Given the description of an element on the screen output the (x, y) to click on. 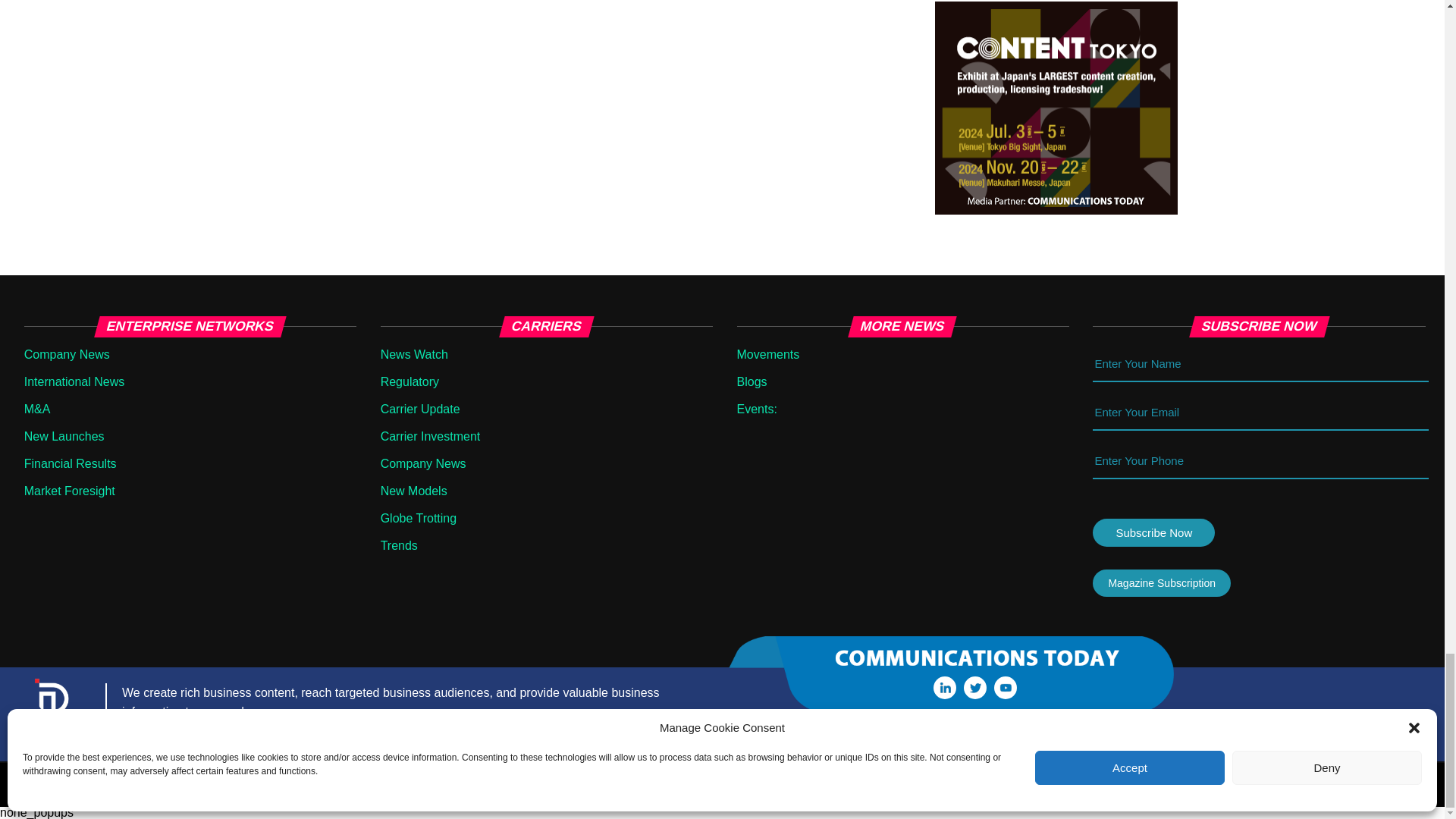
Subscribe Now (1153, 532)
